Given the description of an element on the screen output the (x, y) to click on. 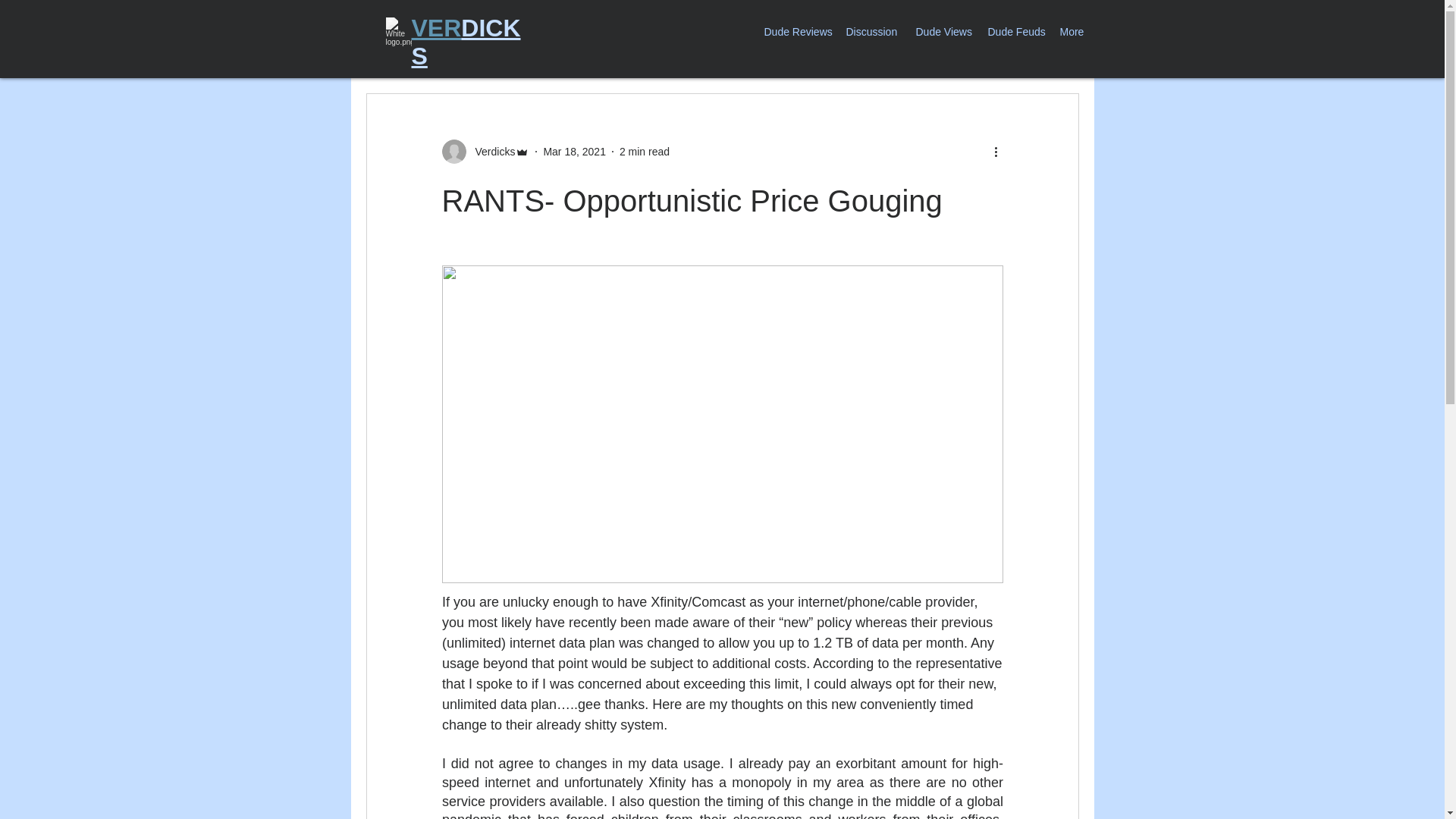
VERDICKS (464, 41)
Dude Feuds (1012, 31)
2 min read (644, 151)
Verdicks (490, 151)
Dude Views (939, 31)
Mar 18, 2021 (574, 151)
Dude Reviews (793, 31)
Discussion (869, 31)
